Given the description of an element on the screen output the (x, y) to click on. 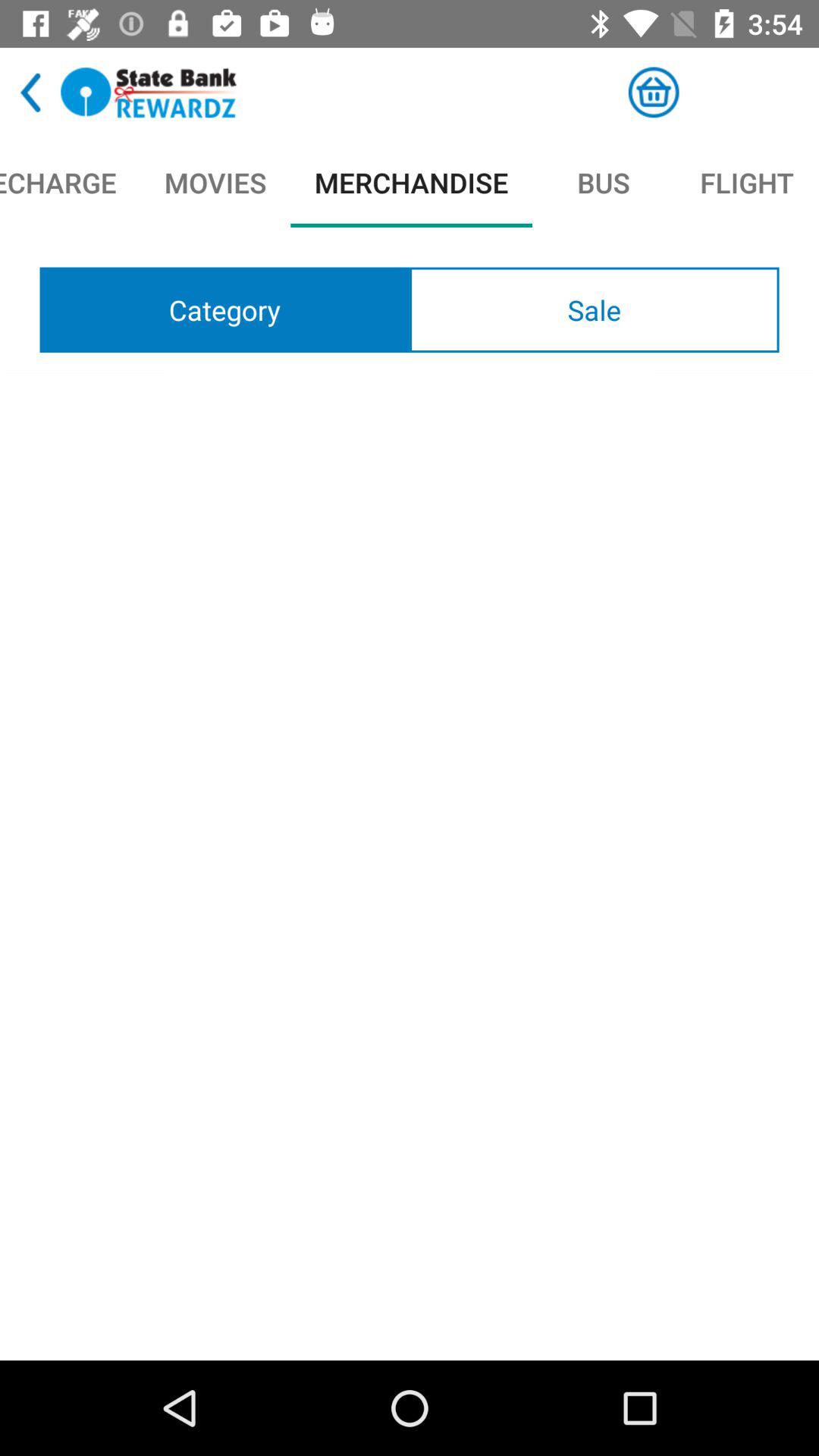
switch state bank rewardz option (148, 92)
